Given the description of an element on the screen output the (x, y) to click on. 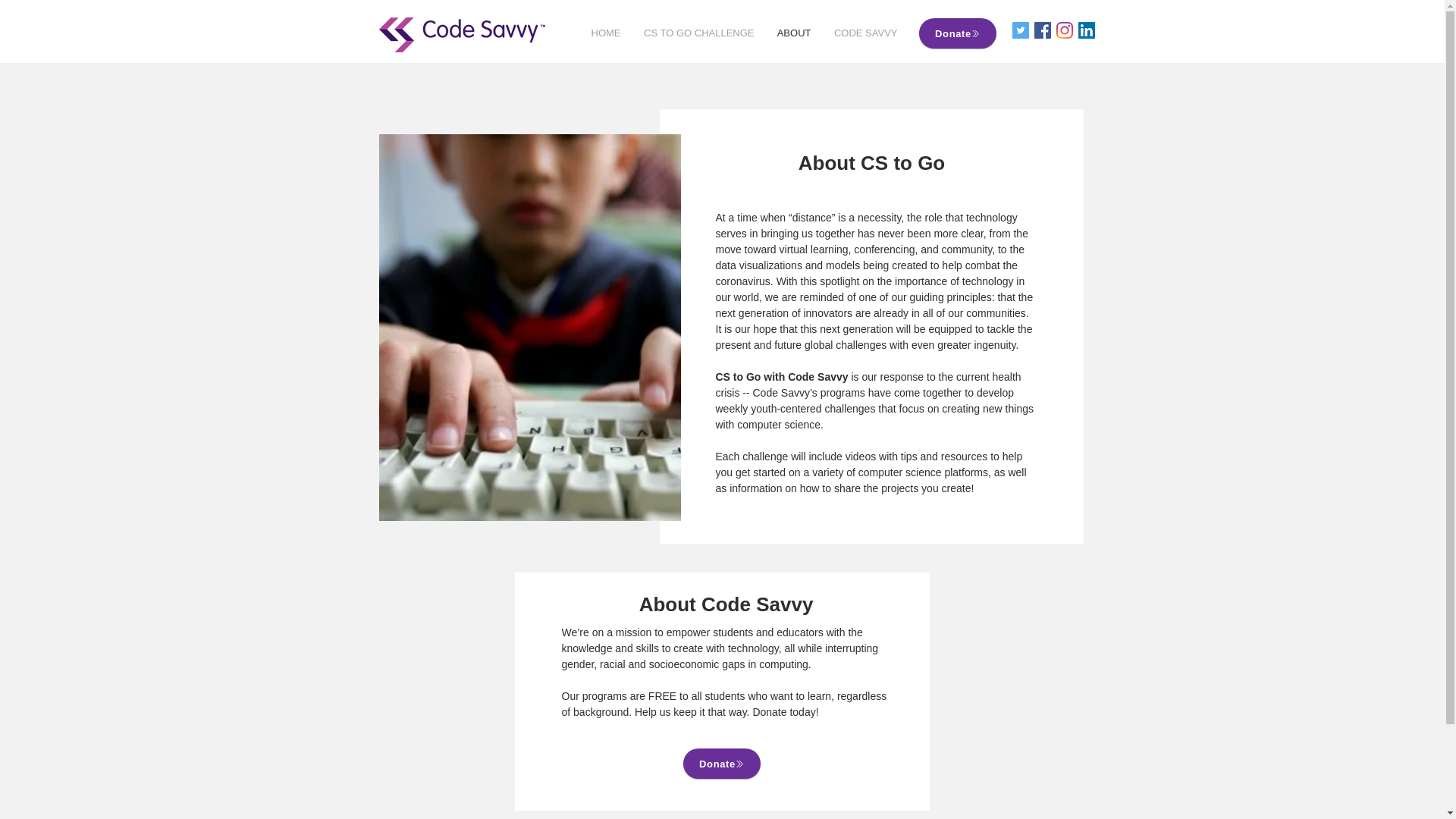
HOME (605, 33)
Donate (721, 763)
Donate (956, 33)
CS TO GO CHALLENGE (698, 33)
CODE SAVVY (865, 33)
ABOUT (793, 33)
